Given the description of an element on the screen output the (x, y) to click on. 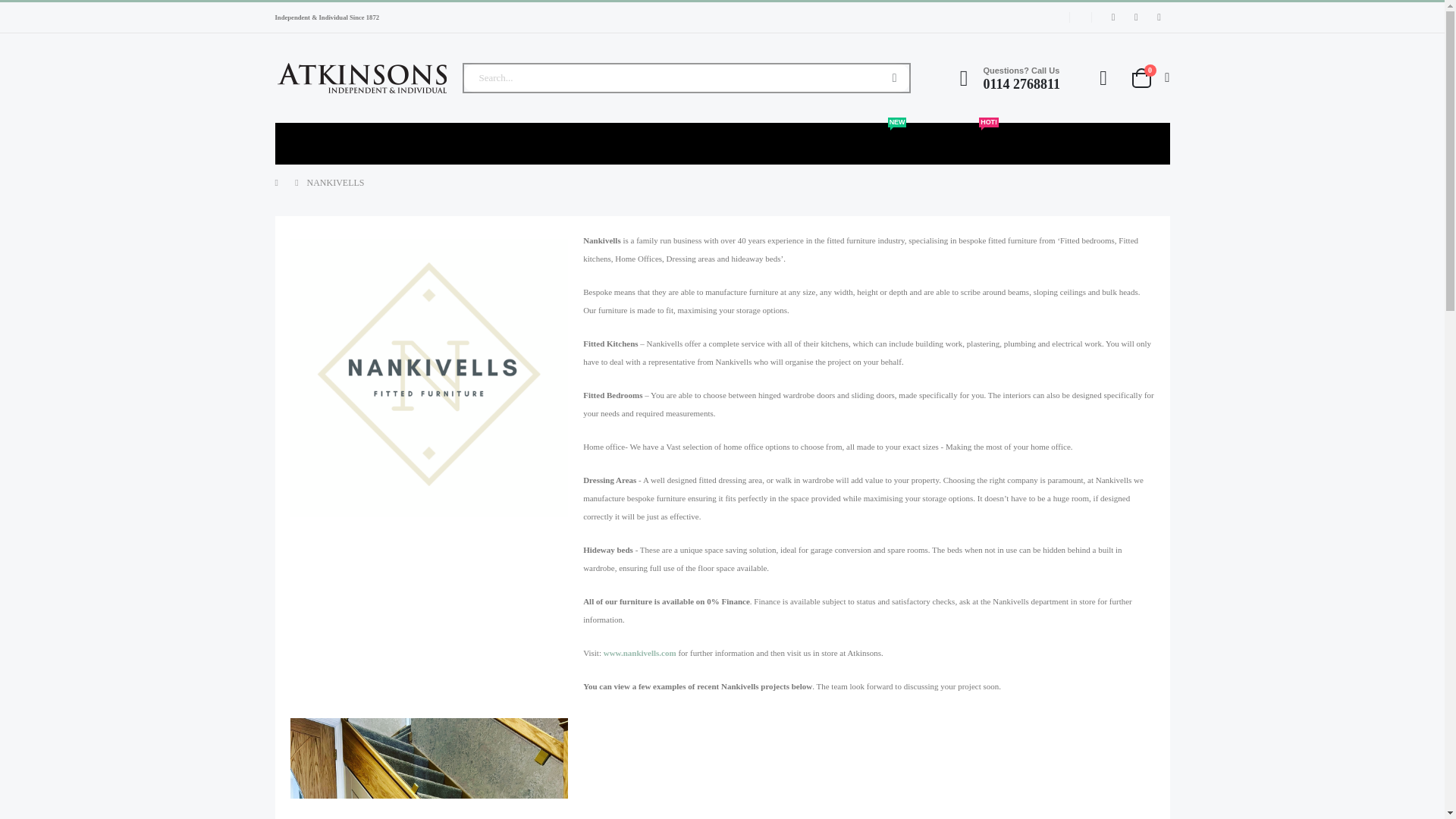
Furniture (303, 143)
Wishlist (1102, 77)
Facebook (1112, 17)
Fashion (303, 143)
Instagram (1159, 17)
Appliances (363, 143)
Appliances (363, 143)
Atkinsons Logo (1149, 77)
Search (361, 78)
